Given the description of an element on the screen output the (x, y) to click on. 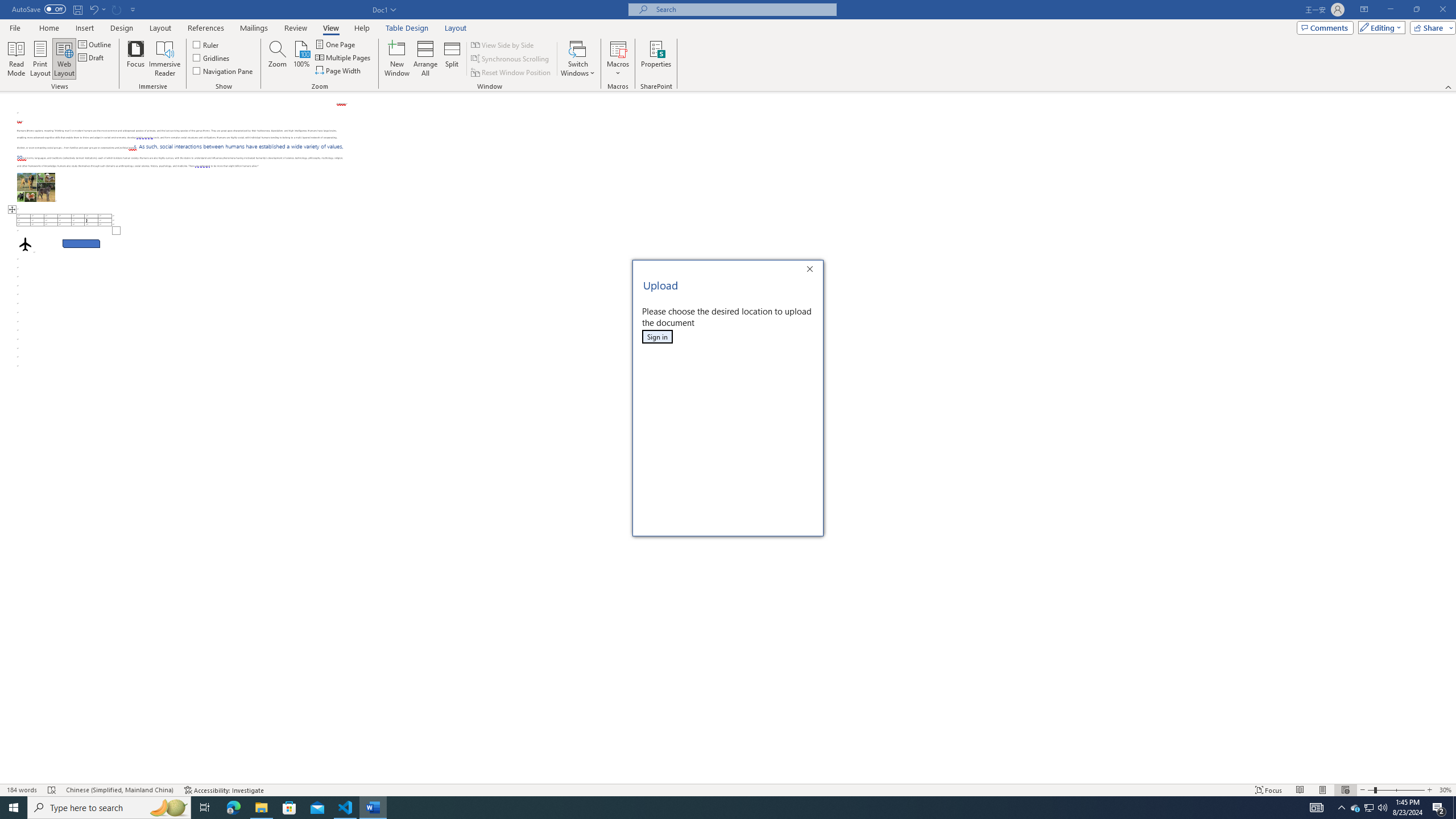
View Side by Side (502, 44)
Draft (91, 56)
File Explorer - 1 running window (261, 807)
New Window (396, 58)
Properties (655, 58)
Undo Row Height Spinner (92, 9)
